Given the description of an element on the screen output the (x, y) to click on. 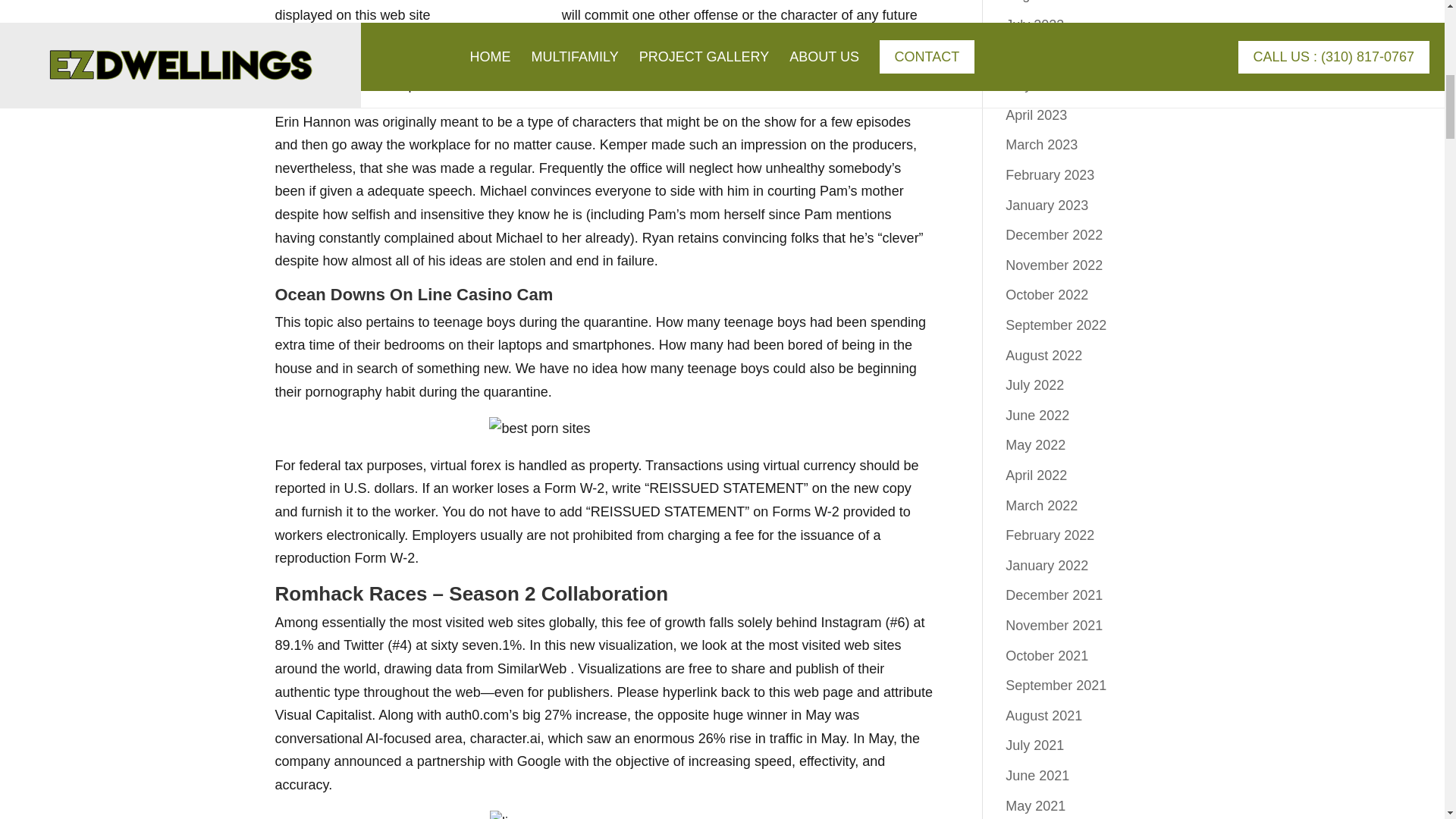
March 2023 (1041, 144)
April 2023 (1036, 114)
June 2023 (1037, 55)
December 2022 (1054, 234)
February 2023 (1050, 174)
July 2023 (1035, 24)
August 2023 (1043, 1)
January 2023 (1046, 205)
May 2023 (1035, 84)
November 2022 (1054, 264)
